Given the description of an element on the screen output the (x, y) to click on. 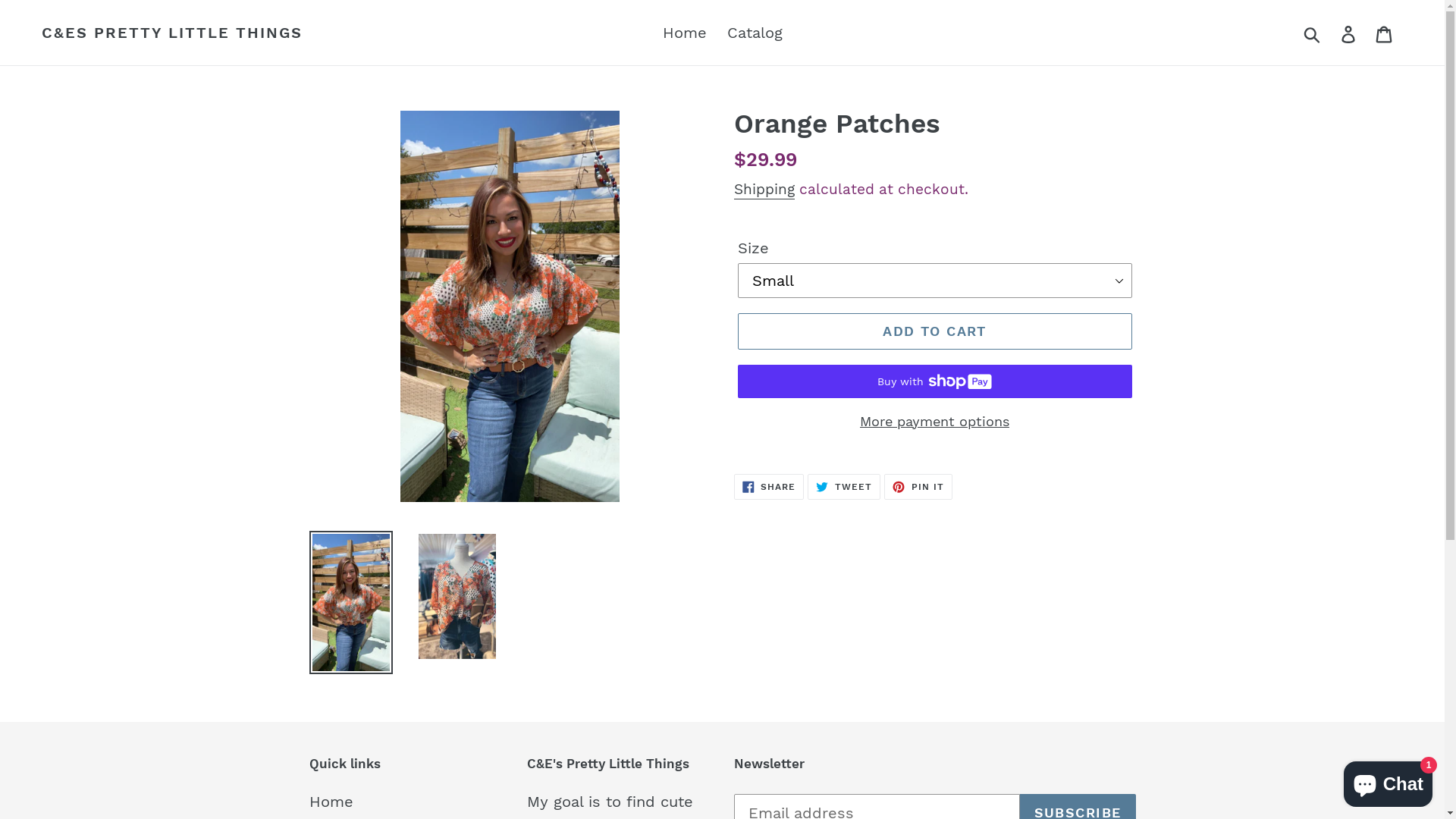
C&ES PRETTY LITTLE THINGS Element type: text (171, 32)
Shopify online store chat Element type: hover (1388, 780)
Submit Element type: text (1312, 32)
Log in Element type: text (1349, 32)
Catalog Element type: text (753, 32)
Shipping Element type: text (764, 189)
TWEET
TWEET ON TWITTER Element type: text (843, 486)
SHARE
SHARE ON FACEBOOK Element type: text (769, 486)
ADD TO CART Element type: text (934, 330)
PIN IT
PIN ON PINTEREST Element type: text (918, 486)
Cart Element type: text (1384, 32)
Home Element type: text (684, 32)
More payment options Element type: text (934, 421)
Home Element type: text (331, 801)
